Given the description of an element on the screen output the (x, y) to click on. 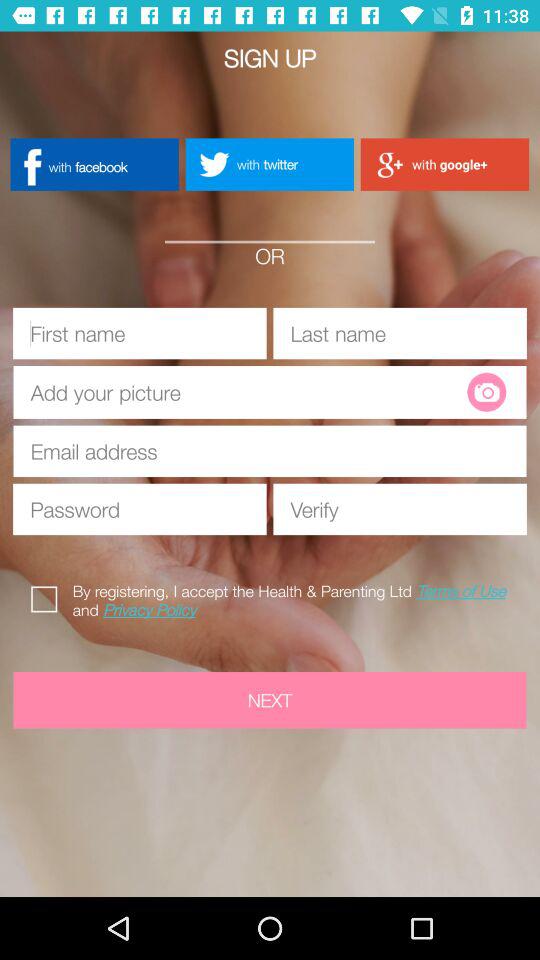
select the with twitter button (269, 164)
